Given the description of an element on the screen output the (x, y) to click on. 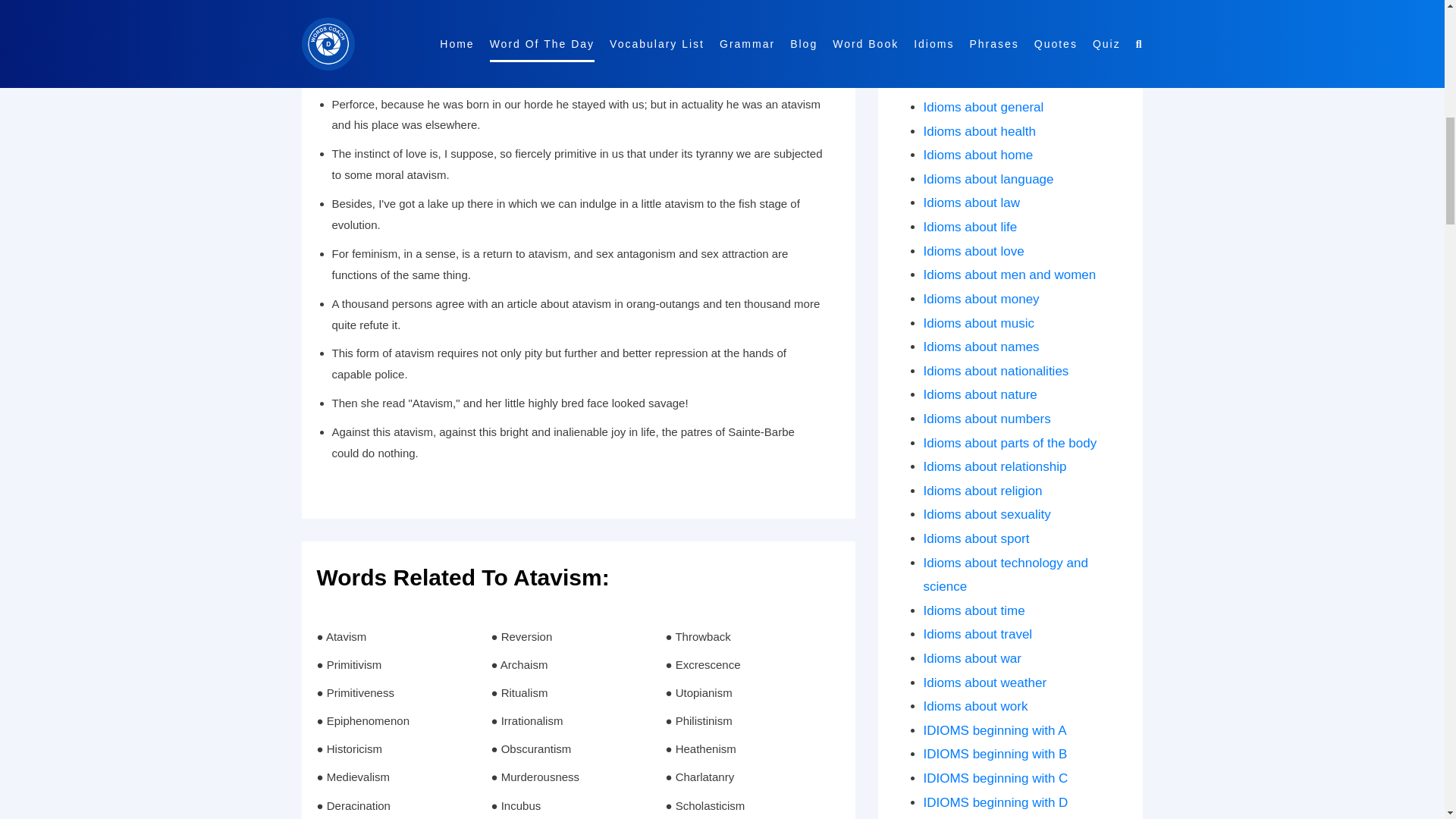
Idioms about dreams (983, 34)
Idioms about death (978, 11)
Words related to Atavism (578, 585)
